Given the description of an element on the screen output the (x, y) to click on. 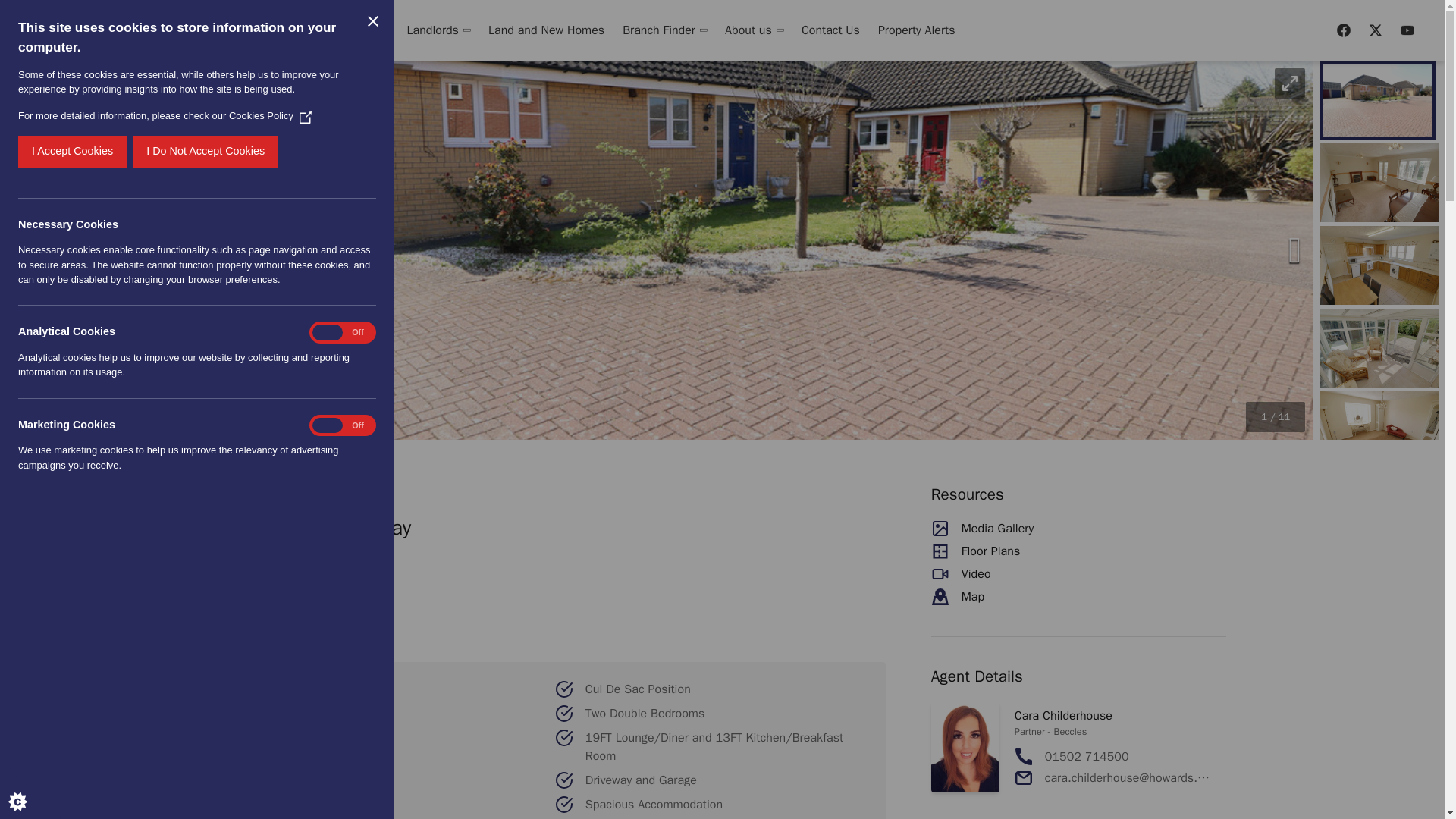
I Accept Cookies (24, 151)
Property Alerts (912, 29)
Contact Us (830, 29)
Request Valuation (187, 29)
Land and New Homes (545, 29)
I Do Not Accept Cookies (155, 151)
